Given the description of an element on the screen output the (x, y) to click on. 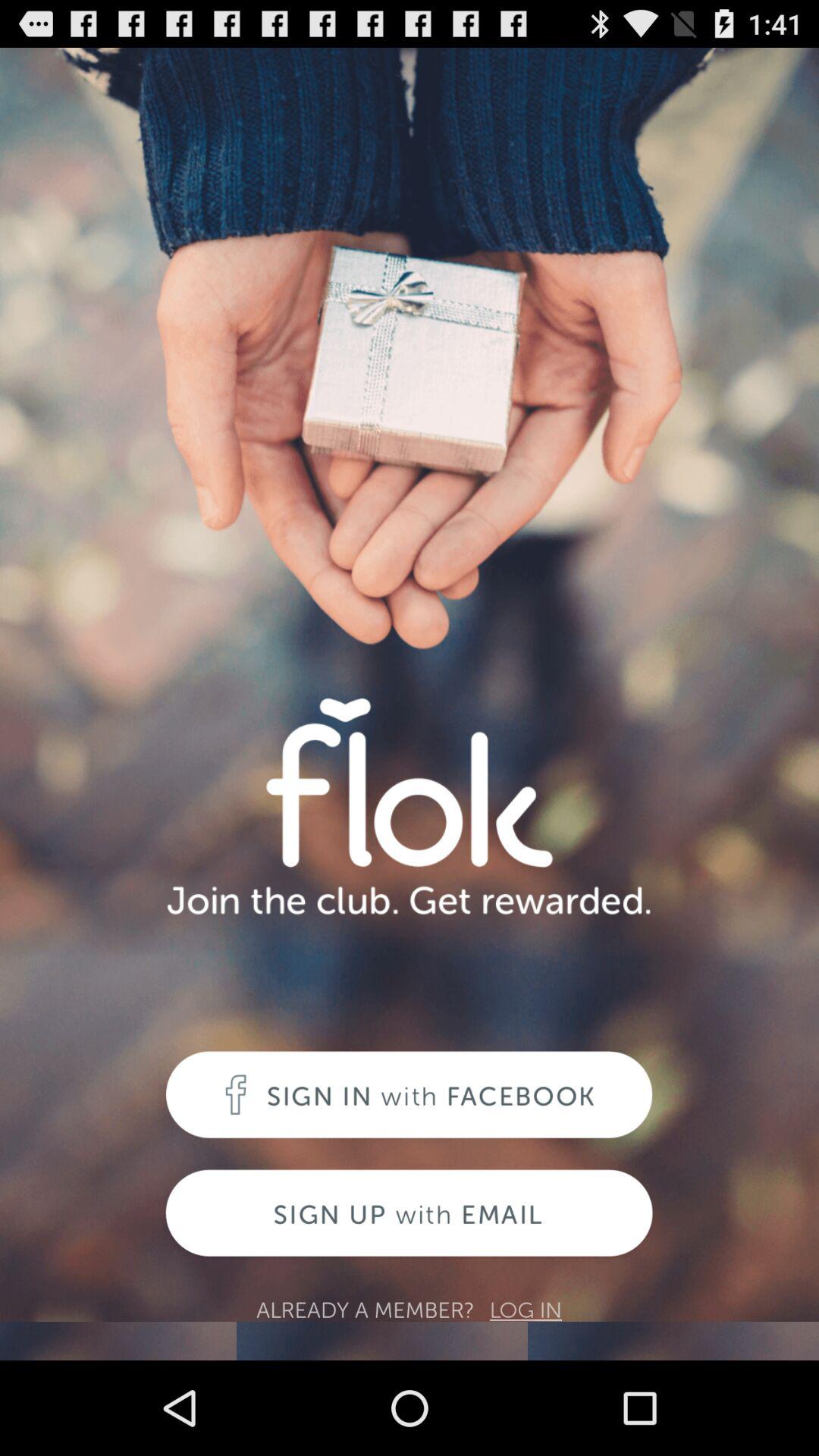
go to sign up page (409, 1214)
